Given the description of an element on the screen output the (x, y) to click on. 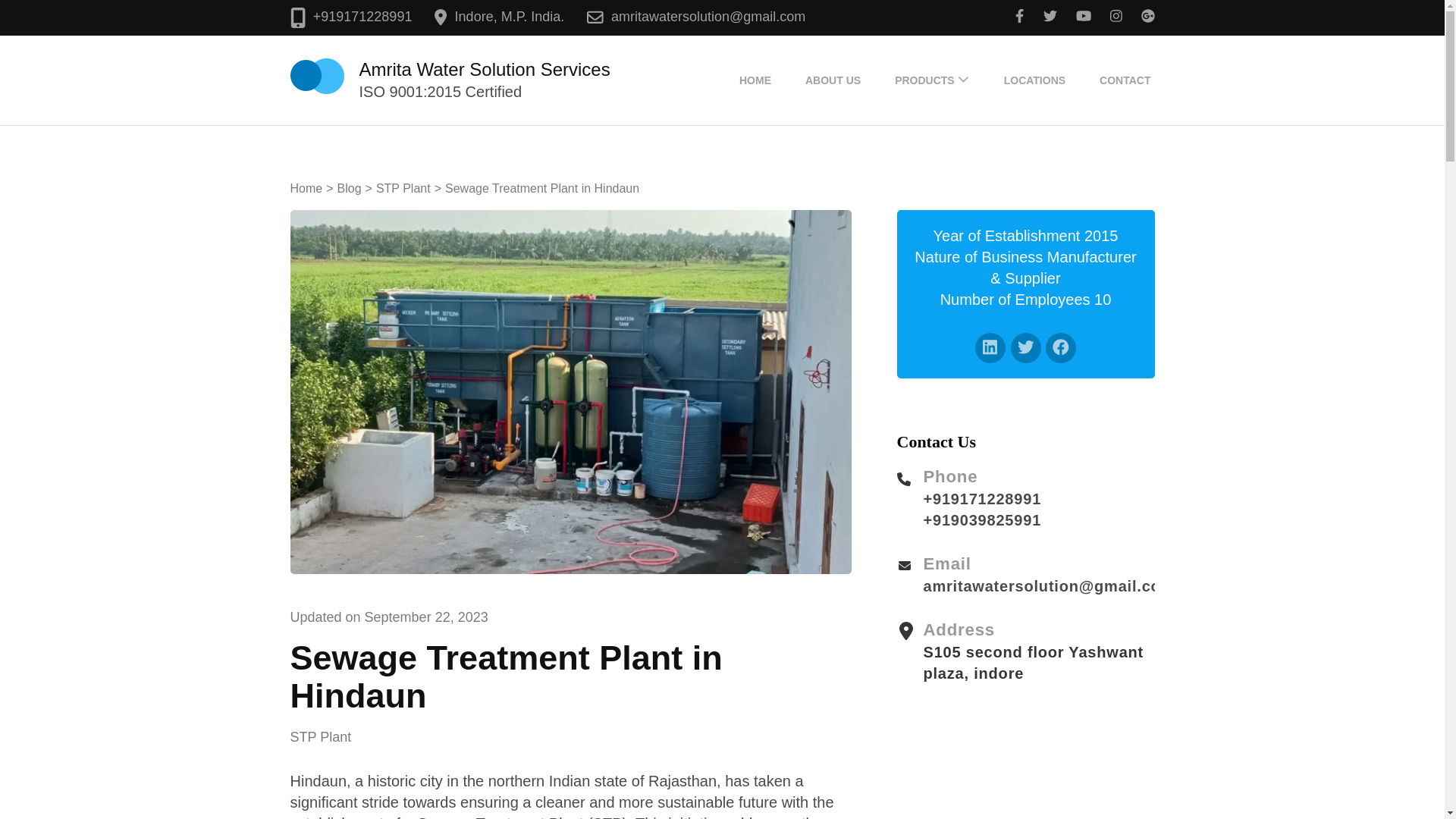
Amrita Water Solution Services (484, 68)
HOME (754, 79)
ABOUT US (833, 79)
PRODUCTS (924, 79)
